Given the description of an element on the screen output the (x, y) to click on. 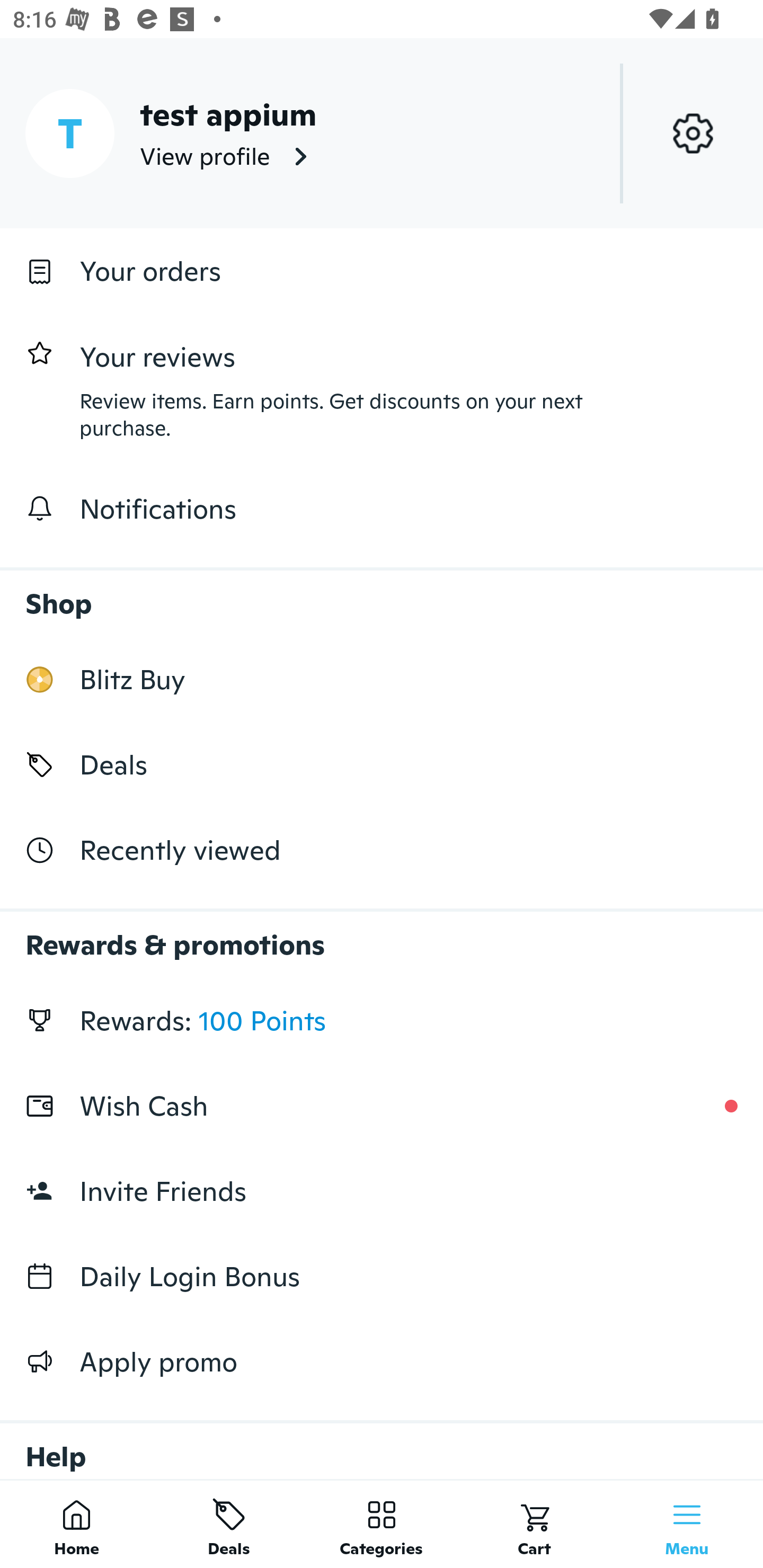
T test appium View profile (381, 132)
Your orders (381, 270)
Notifications (381, 508)
Shop (381, 593)
Blitz Buy (381, 679)
Deals (381, 764)
Recently viewed (381, 850)
Rewards & promotions (381, 935)
Rewards: 100 Points (381, 1020)
Wish Cash (381, 1106)
Invite Friends (381, 1190)
Daily Login Bonus (381, 1277)
Apply promo (381, 1361)
Help (381, 1441)
Home (76, 1523)
Deals (228, 1523)
Categories (381, 1523)
Cart (533, 1523)
Menu (686, 1523)
